Given the description of an element on the screen output the (x, y) to click on. 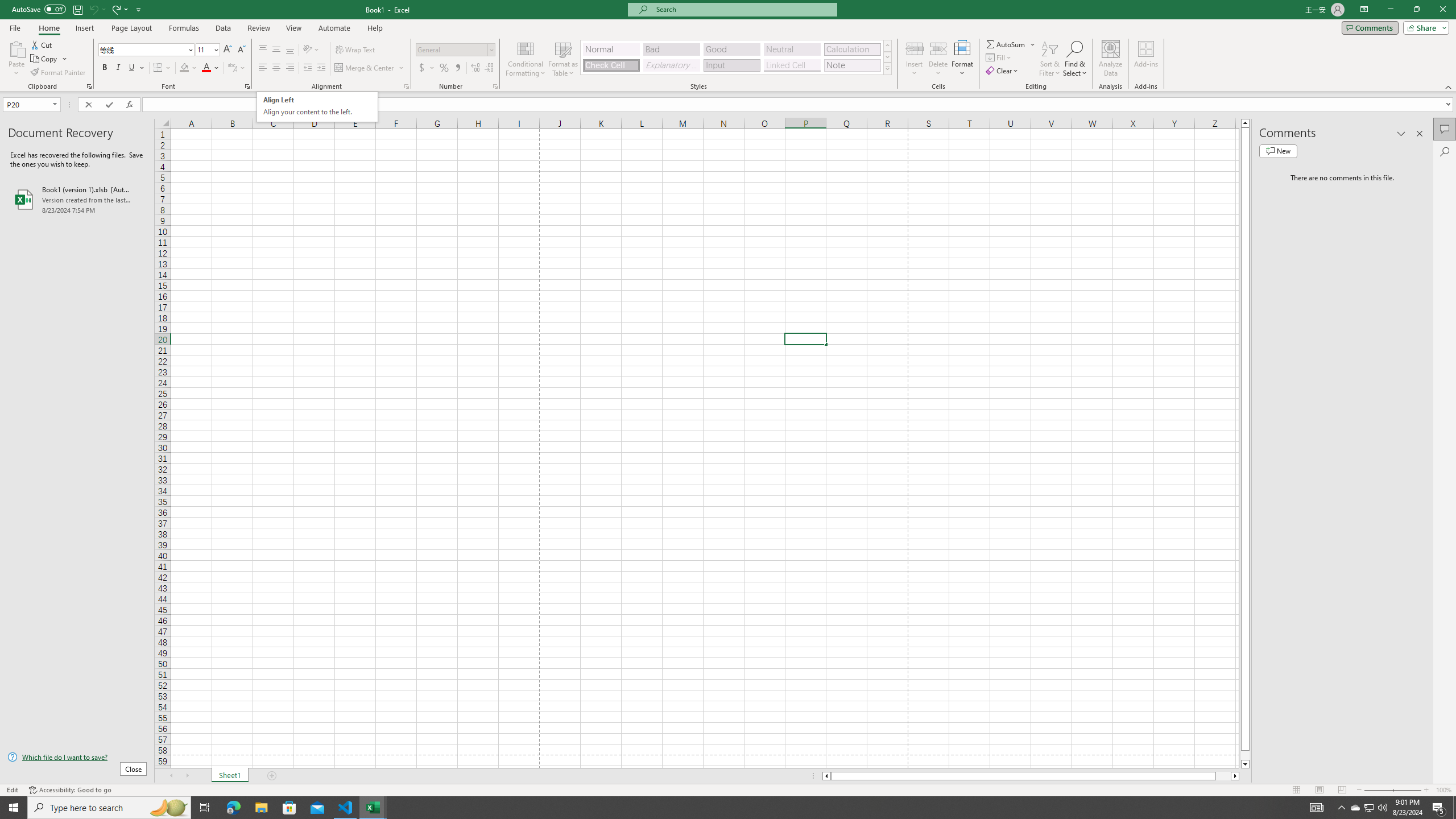
Fill (999, 56)
Good (731, 49)
Center (276, 67)
Show Phonetic Field (231, 67)
Top Align (262, 49)
Task Pane Options (1400, 133)
Bottom Border (157, 67)
Increase Font Size (227, 49)
Decrease Decimal (489, 67)
